Given the description of an element on the screen output the (x, y) to click on. 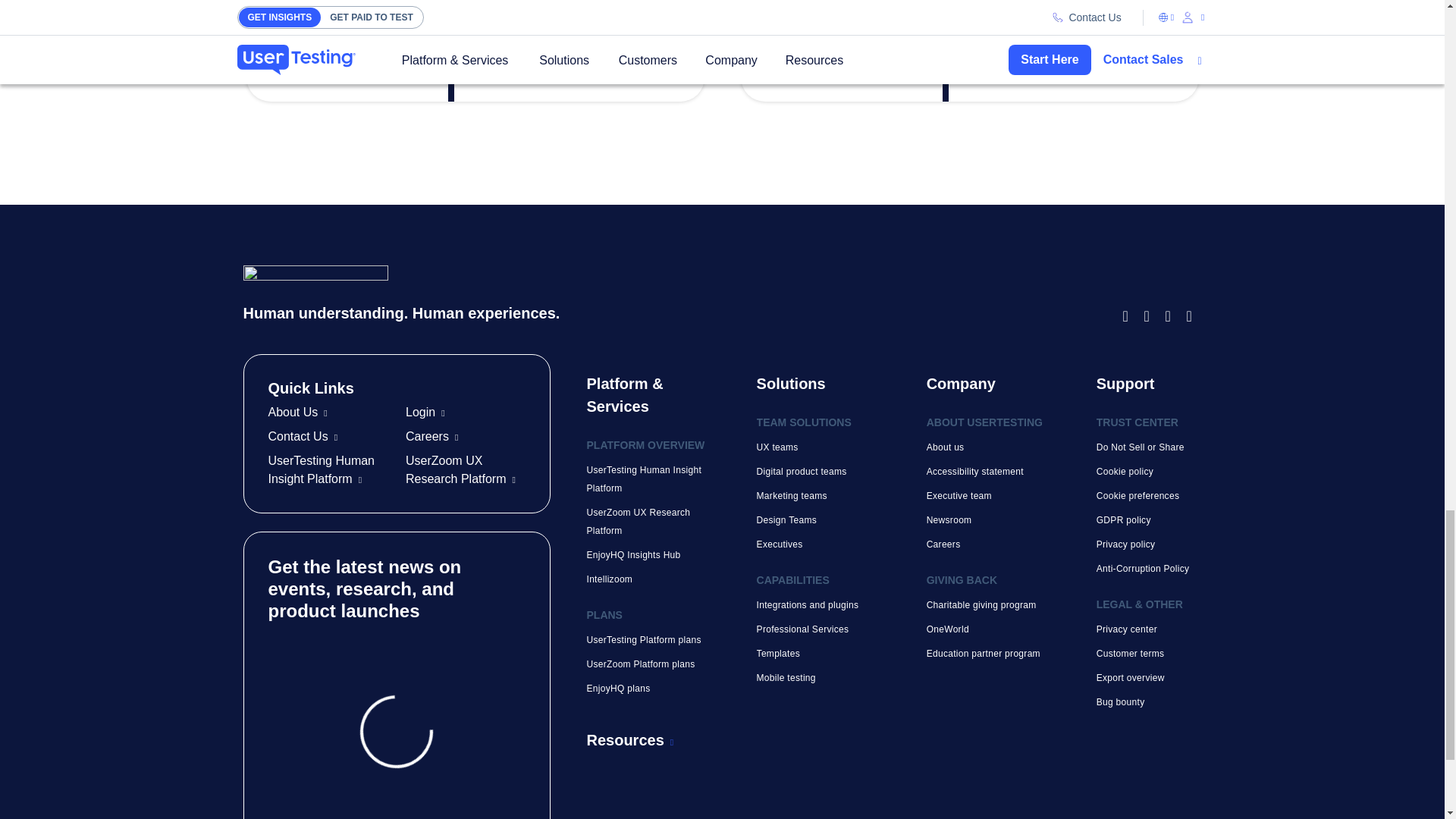
Home (679, 294)
